Given the description of an element on the screen output the (x, y) to click on. 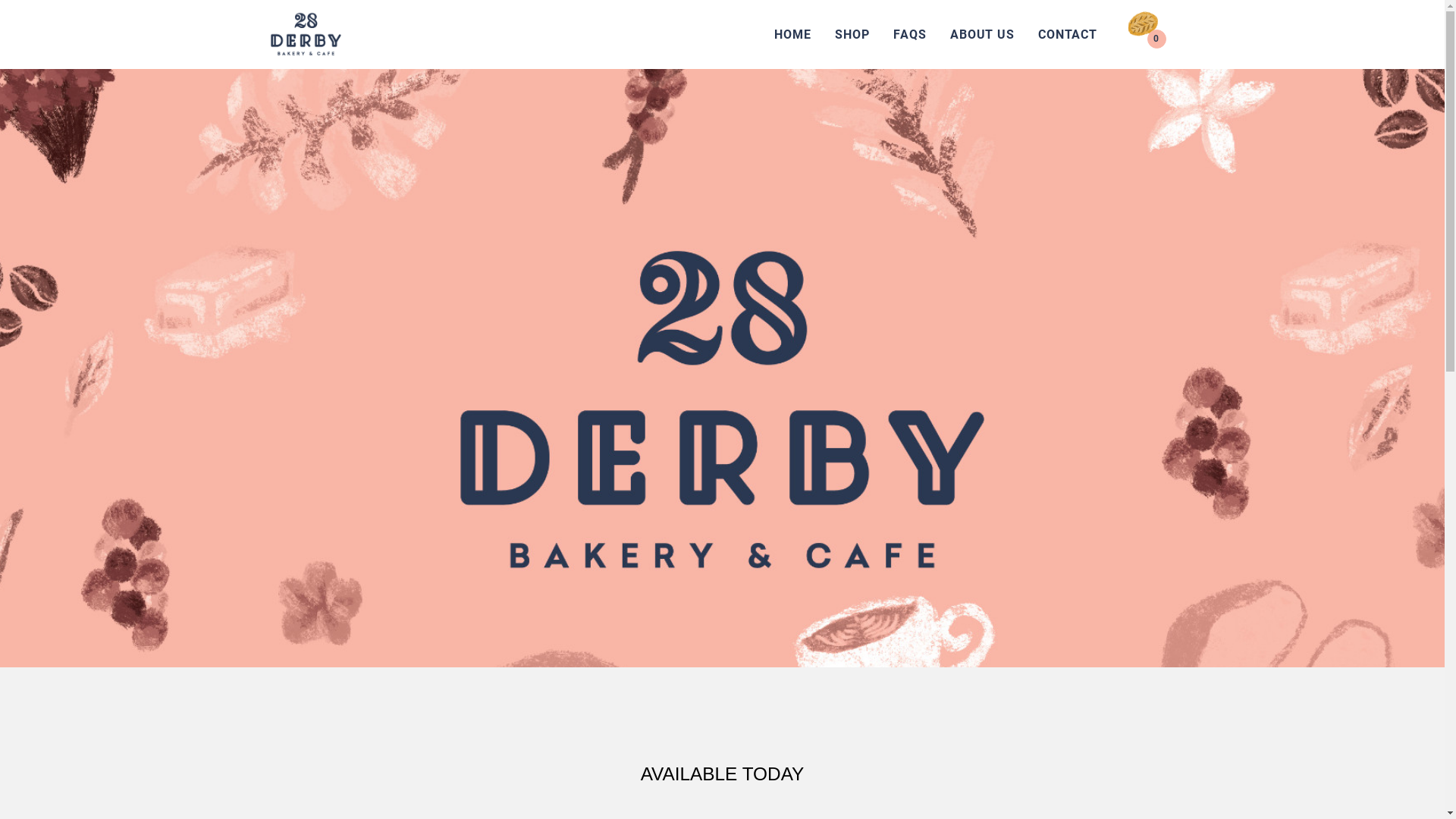
ABOUT US Element type: text (982, 34)
FAQS Element type: text (909, 34)
0 Element type: text (1143, 38)
CONTACT Element type: text (1067, 34)
HOME Element type: text (792, 34)
SHOP Element type: text (851, 34)
